Given the description of an element on the screen output the (x, y) to click on. 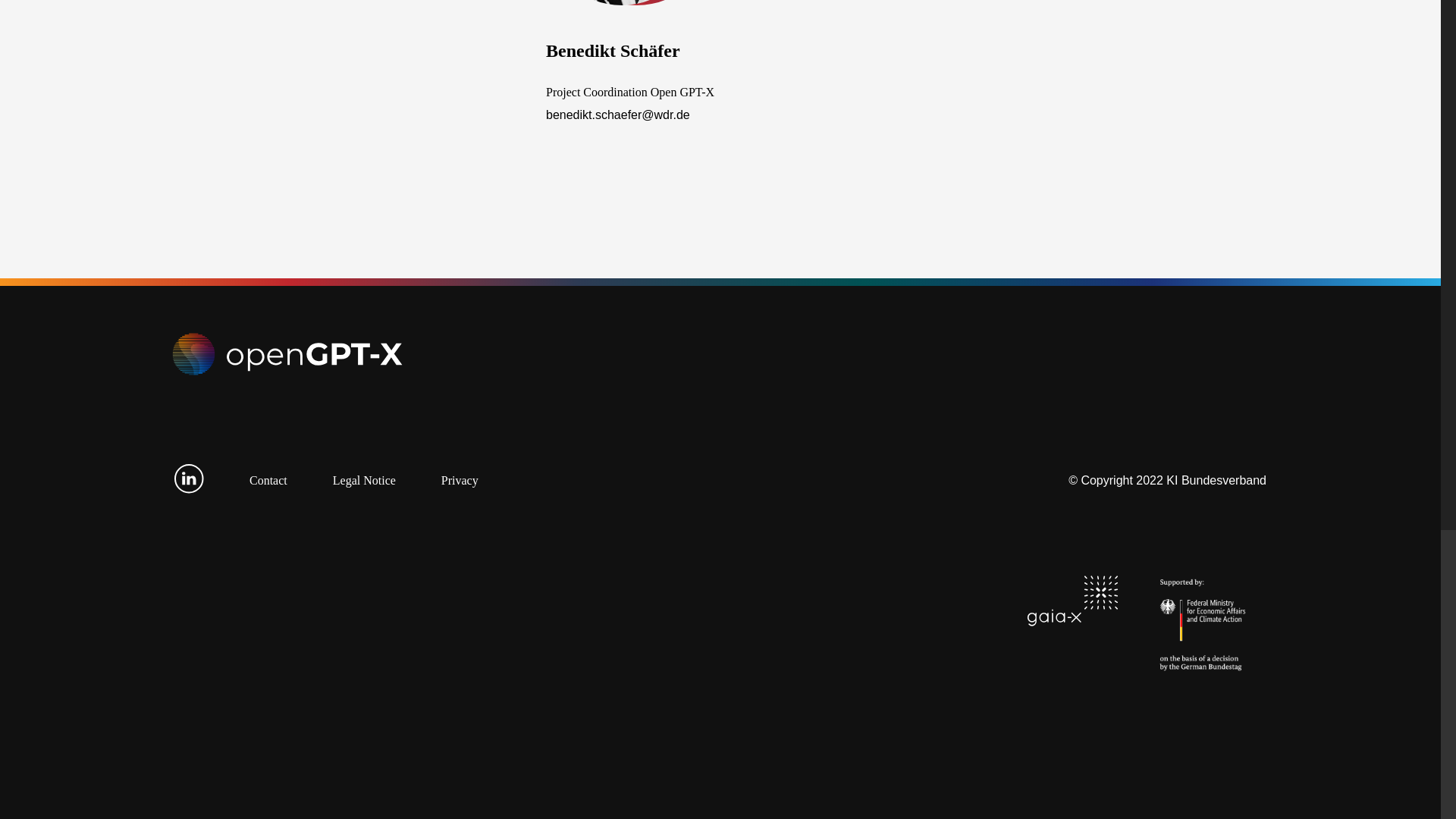
Linkedin (188, 478)
Contact (267, 480)
Legal Notice (364, 480)
Privacy (460, 480)
Linkedin (188, 489)
